Given the description of an element on the screen output the (x, y) to click on. 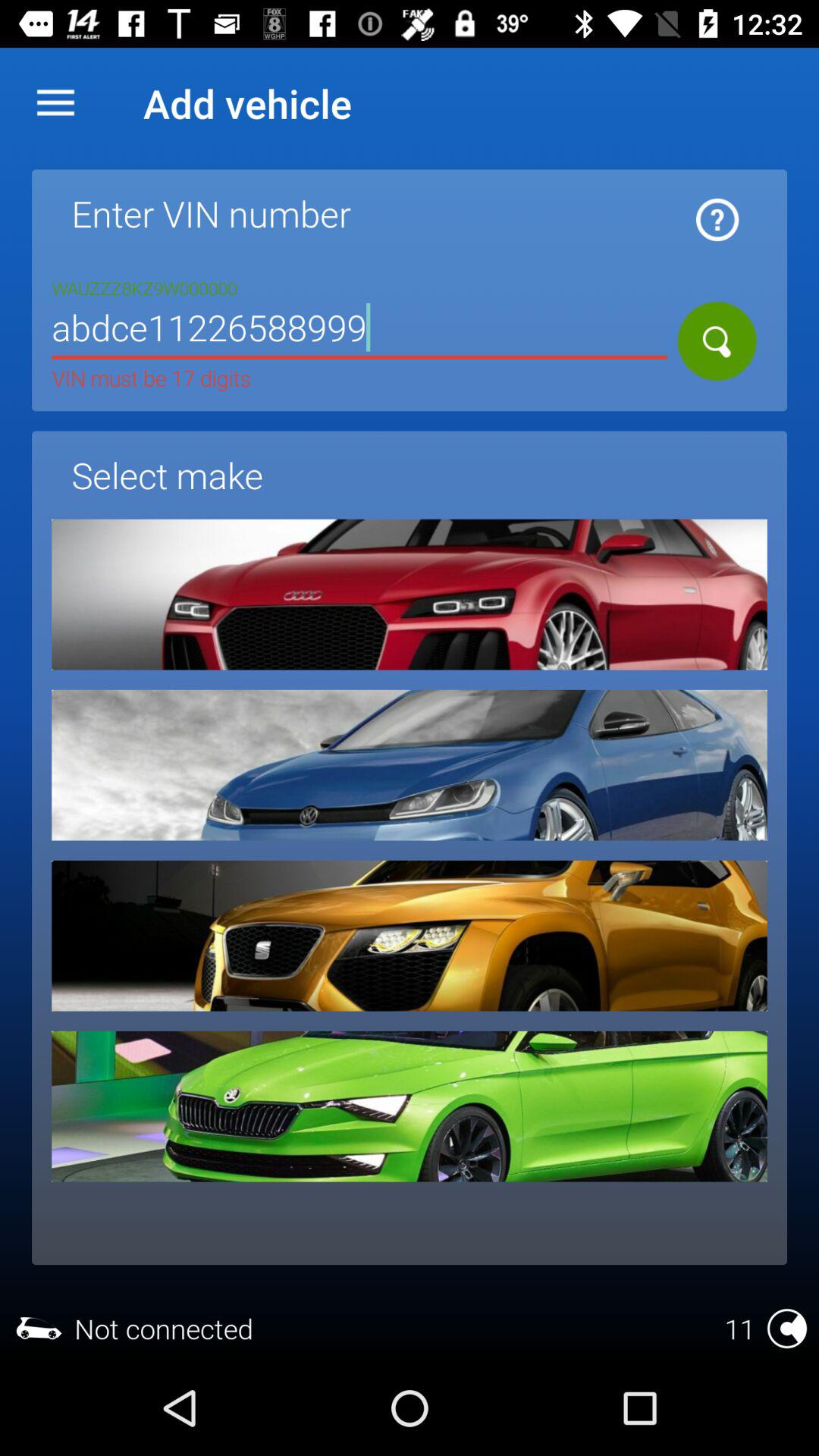
click the item below the enter vin number item (359, 330)
